Given the description of an element on the screen output the (x, y) to click on. 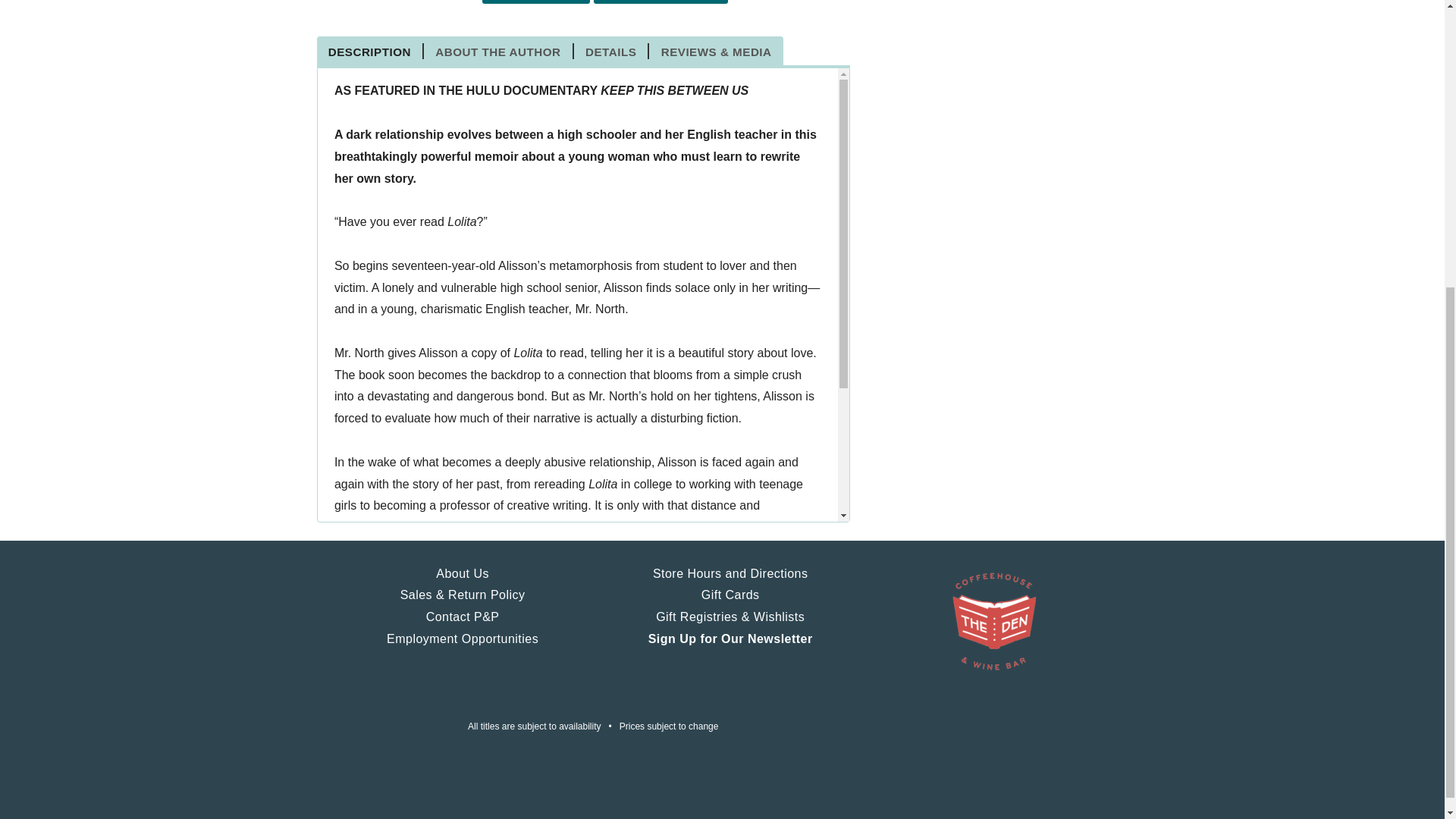
Add to Wish List (661, 2)
Add to Cart (535, 2)
